Given the description of an element on the screen output the (x, y) to click on. 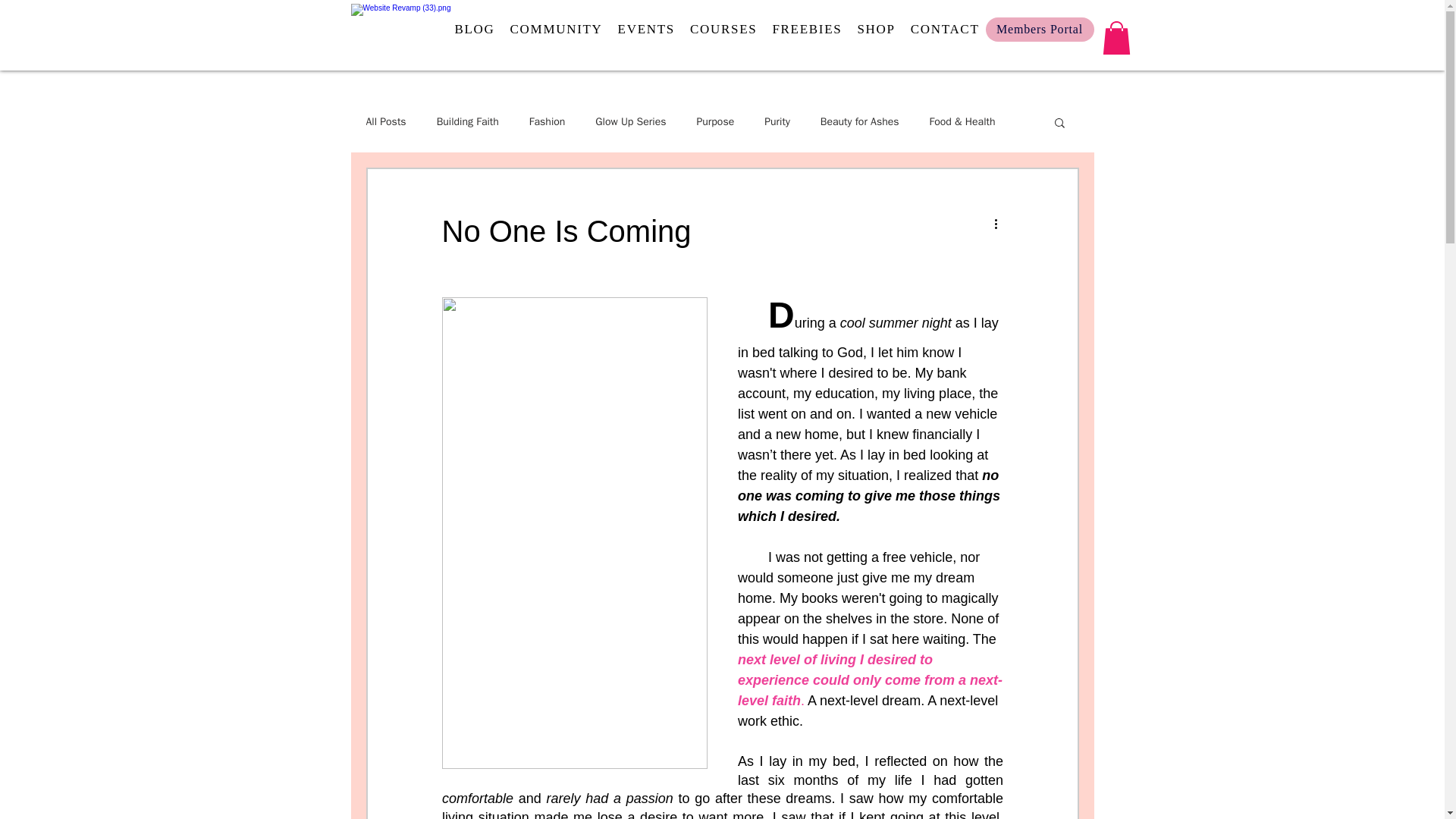
Building Faith (467, 121)
EVENTS (646, 29)
BLOG (474, 29)
CONTACT (944, 29)
Members Portal (1039, 29)
COMMUNITY (556, 29)
Purpose (714, 121)
Purity (777, 121)
All Posts (385, 121)
FREEBIES (806, 29)
Glow Up Series (630, 121)
Fashion (547, 121)
SHOP (876, 29)
COURSES (723, 29)
